Given the description of an element on the screen output the (x, y) to click on. 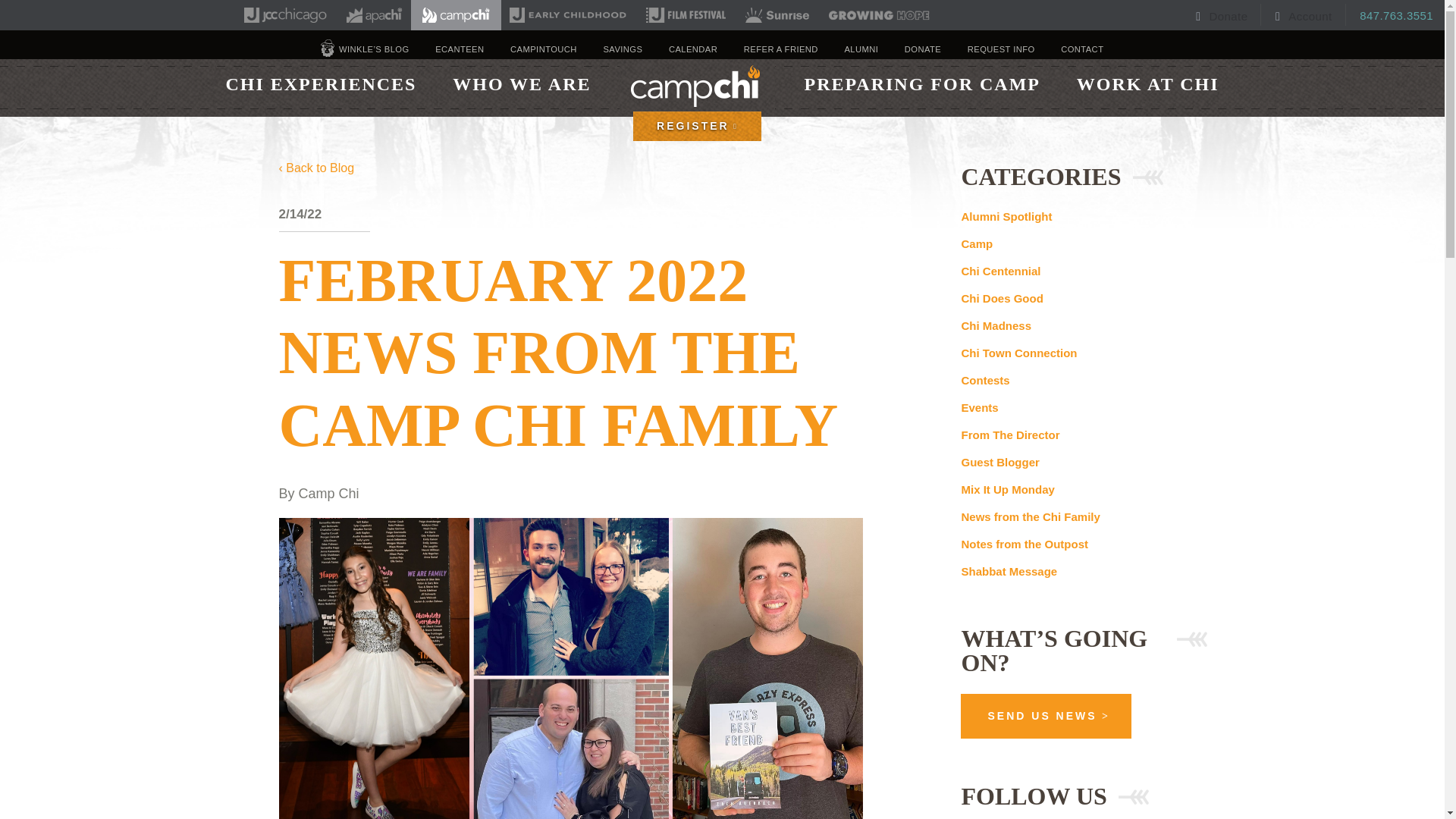
Donate (1222, 14)
WHO WE ARE (521, 83)
DONATE (922, 49)
CALENDAR (692, 49)
SAVINGS (622, 49)
CHI EXPERIENCES (320, 83)
REFER A FRIEND (781, 49)
CAMPINTOUCH (543, 49)
847.763.3551 (1390, 14)
REQUEST INFO (1001, 49)
ECANTEEN (459, 49)
CONTACT (1082, 49)
ALUMNI (860, 49)
Account (1305, 14)
